Given the description of an element on the screen output the (x, y) to click on. 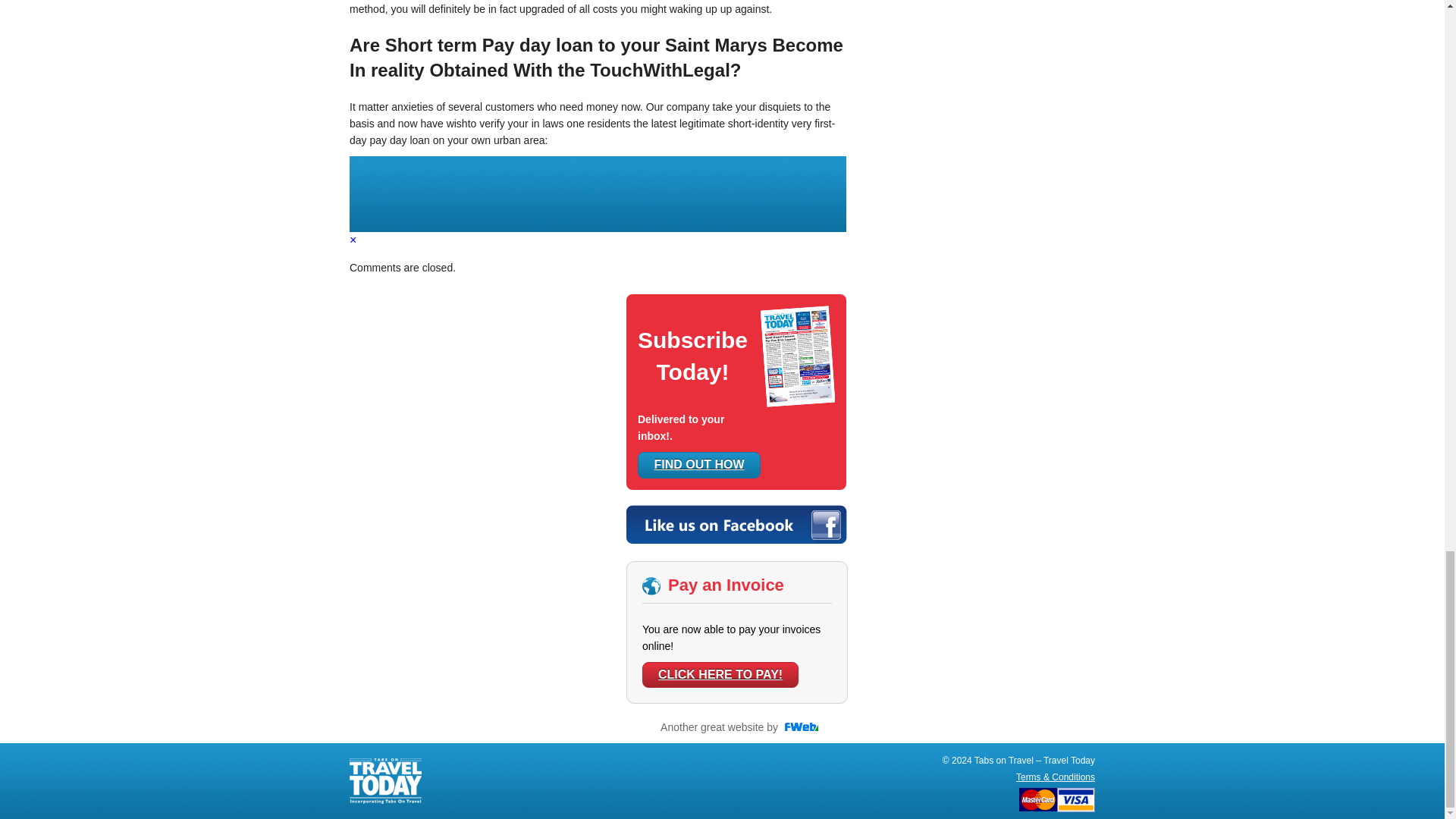
FIND OUT HOW (698, 464)
CLICK HERE TO PAY! (719, 674)
